Given the description of an element on the screen output the (x, y) to click on. 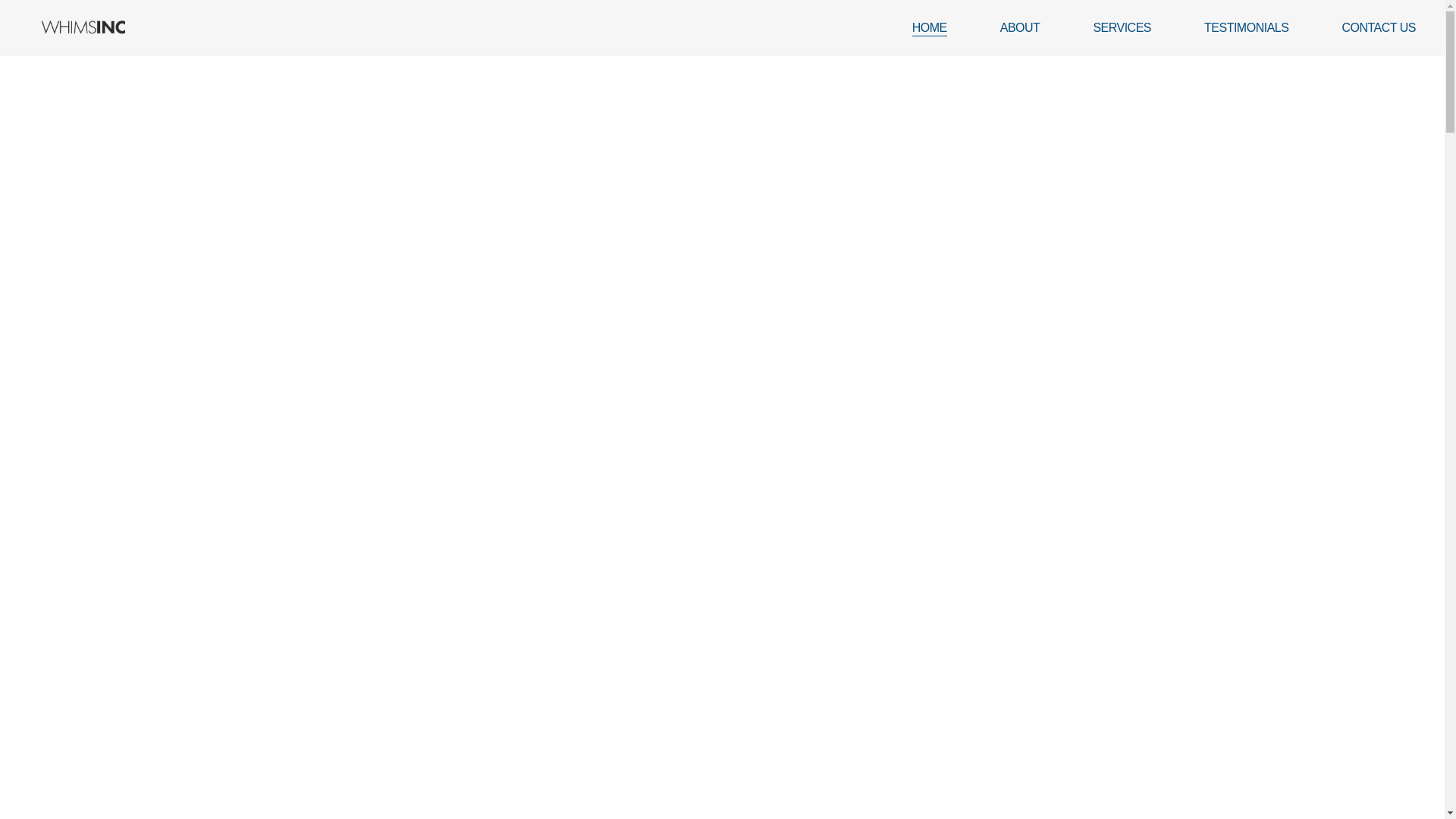
CONTACT US (1377, 27)
HOME (929, 27)
ABOUT (1020, 27)
SERVICES (1122, 27)
TESTIMONIALS (1246, 27)
